Given the description of an element on the screen output the (x, y) to click on. 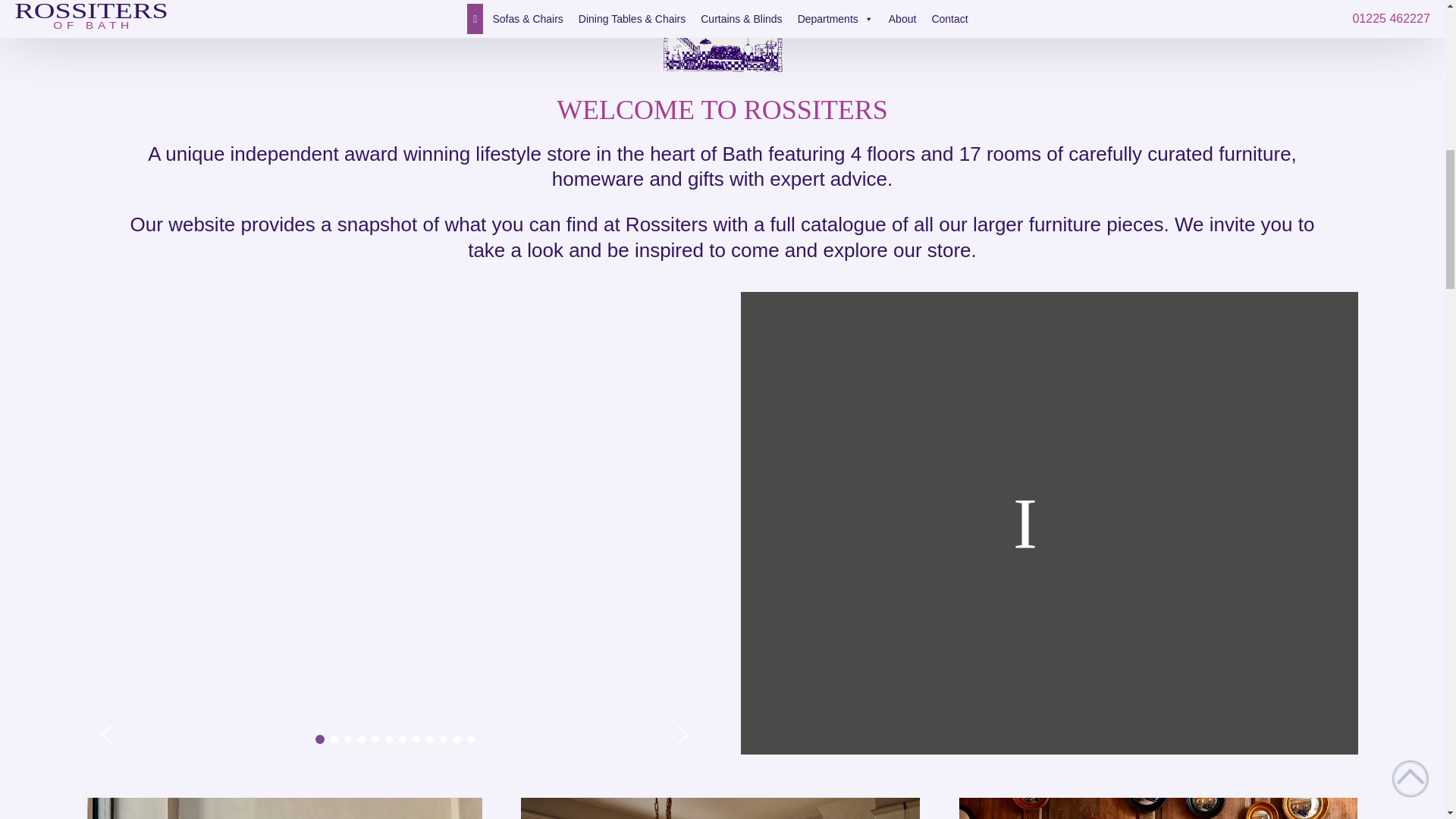
Rossiters of Bath House Only Purple 1280 (721, 37)
